Given the description of an element on the screen output the (x, y) to click on. 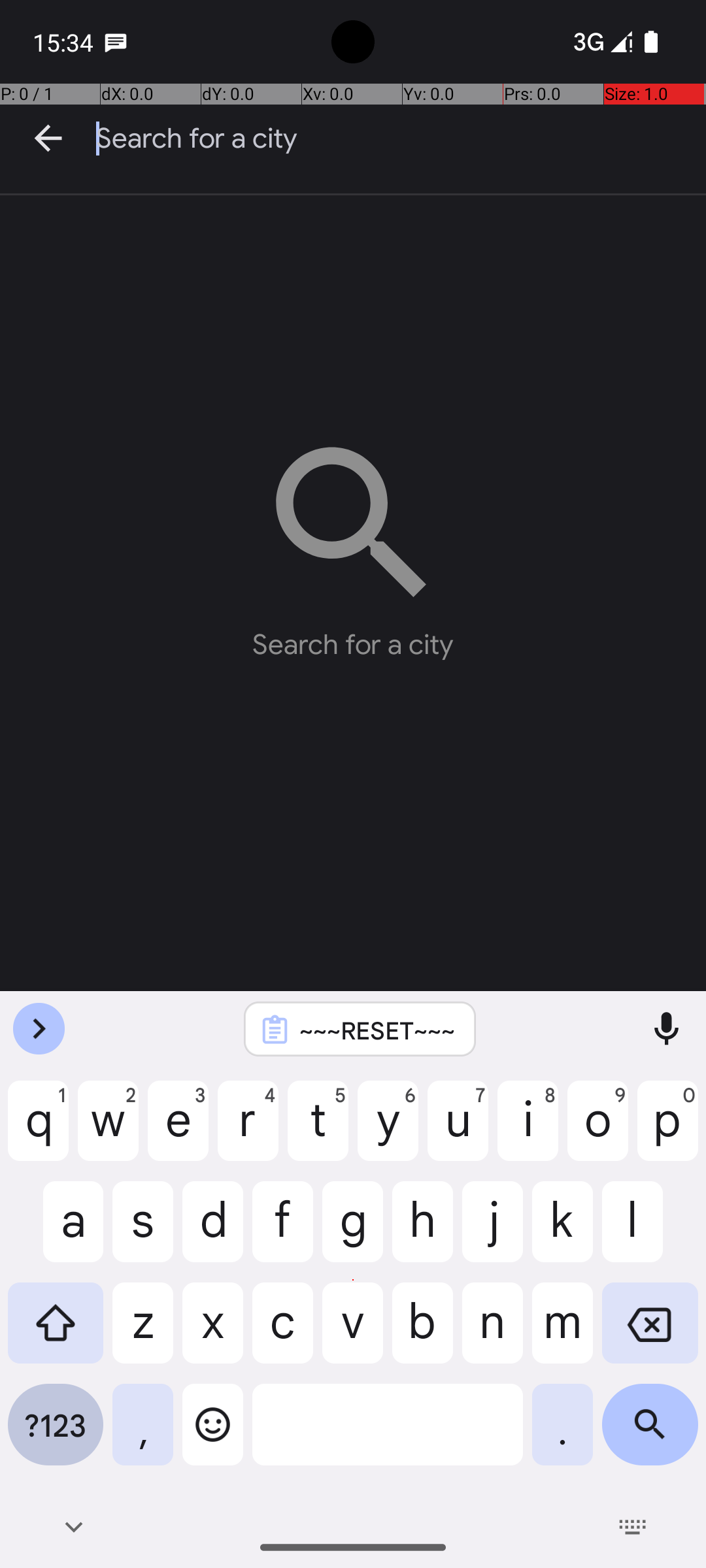
Search for a city Element type: android.widget.EditText (401, 138)
SMS Messenger notification: Freya Hernandez Element type: android.widget.ImageView (115, 41)
